Given the description of an element on the screen output the (x, y) to click on. 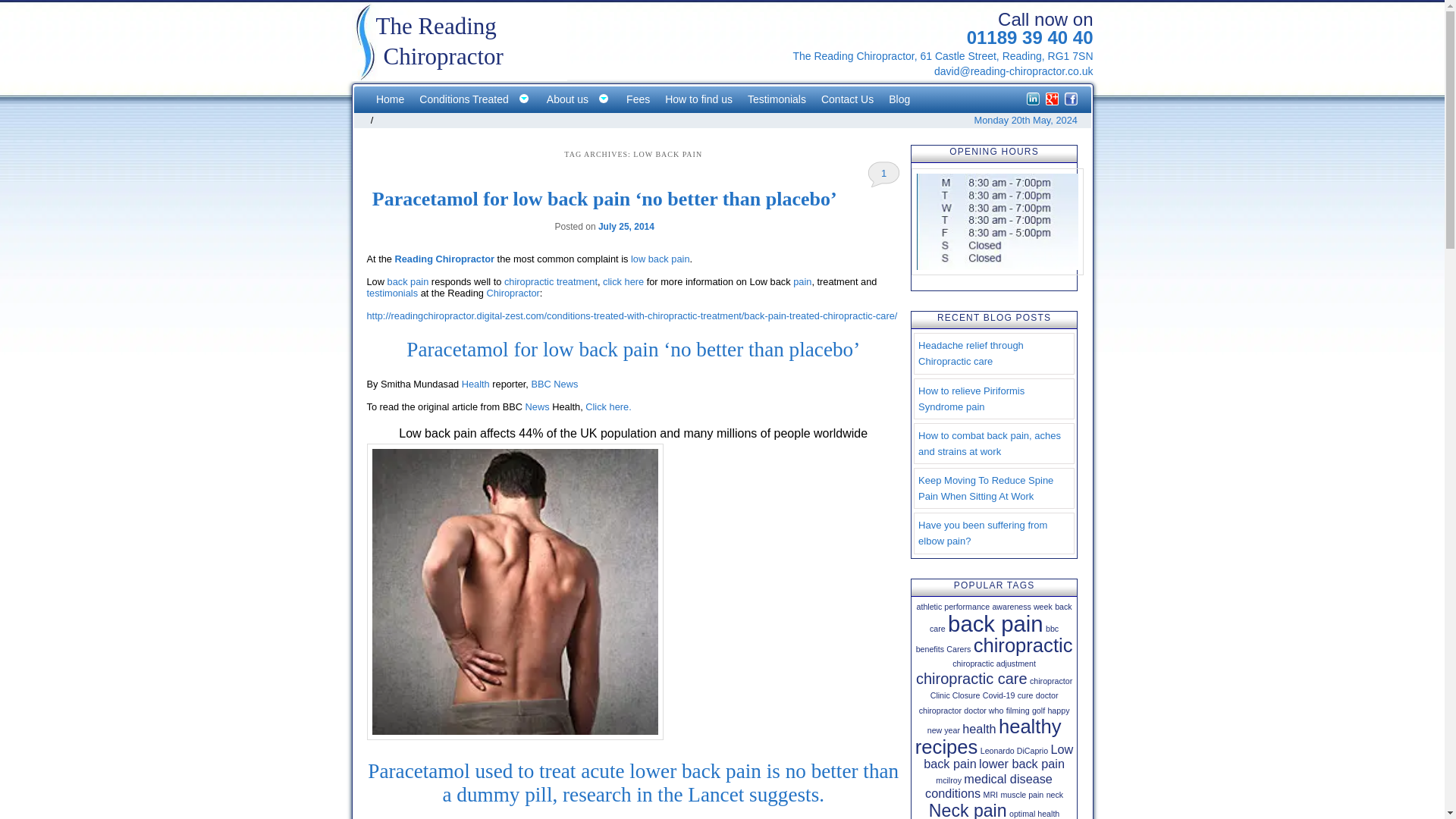
July 25, 2014 (625, 226)
chiropractic treatment (549, 281)
click here (622, 281)
Reading Chiropractor (444, 258)
Testimonials (776, 99)
01189 39 40 40 (1029, 37)
About us (578, 99)
Contact Us (846, 99)
back pain (408, 281)
Home (390, 99)
Conditions Treated (475, 99)
testimonials (392, 292)
Fees (638, 99)
The Reading Chiropractor (459, 76)
